Given the description of an element on the screen output the (x, y) to click on. 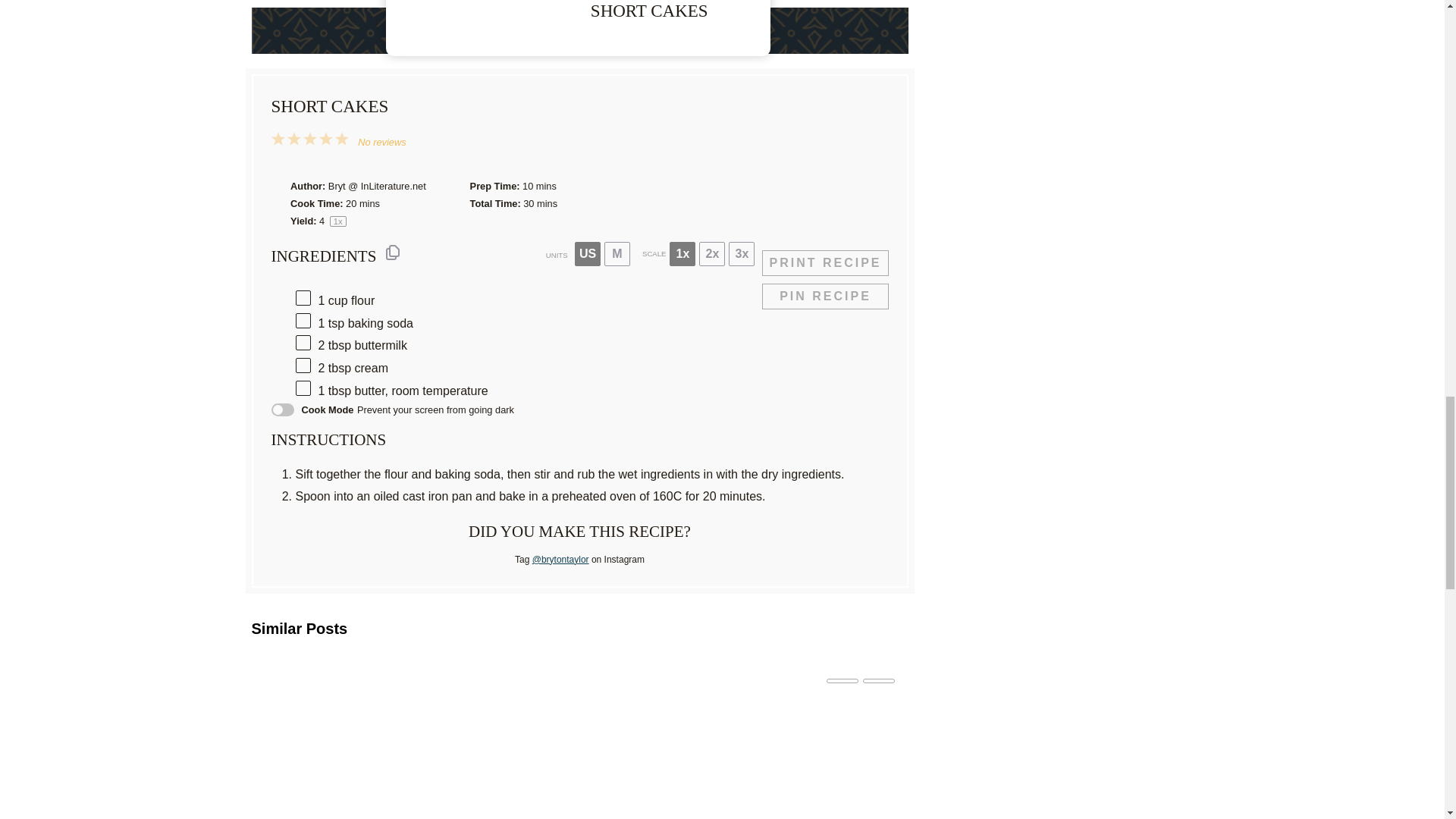
1x (682, 253)
PIN RECIPE (824, 296)
US (587, 253)
Copy to clipboard Copy to clipboard (392, 252)
2x (711, 253)
M (617, 253)
PRINT RECIPE (824, 263)
Sleepy Hollow Slapjacks (767, 762)
3x (741, 253)
Copy to clipboard Copy to clipboard (392, 252)
